Given the description of an element on the screen output the (x, y) to click on. 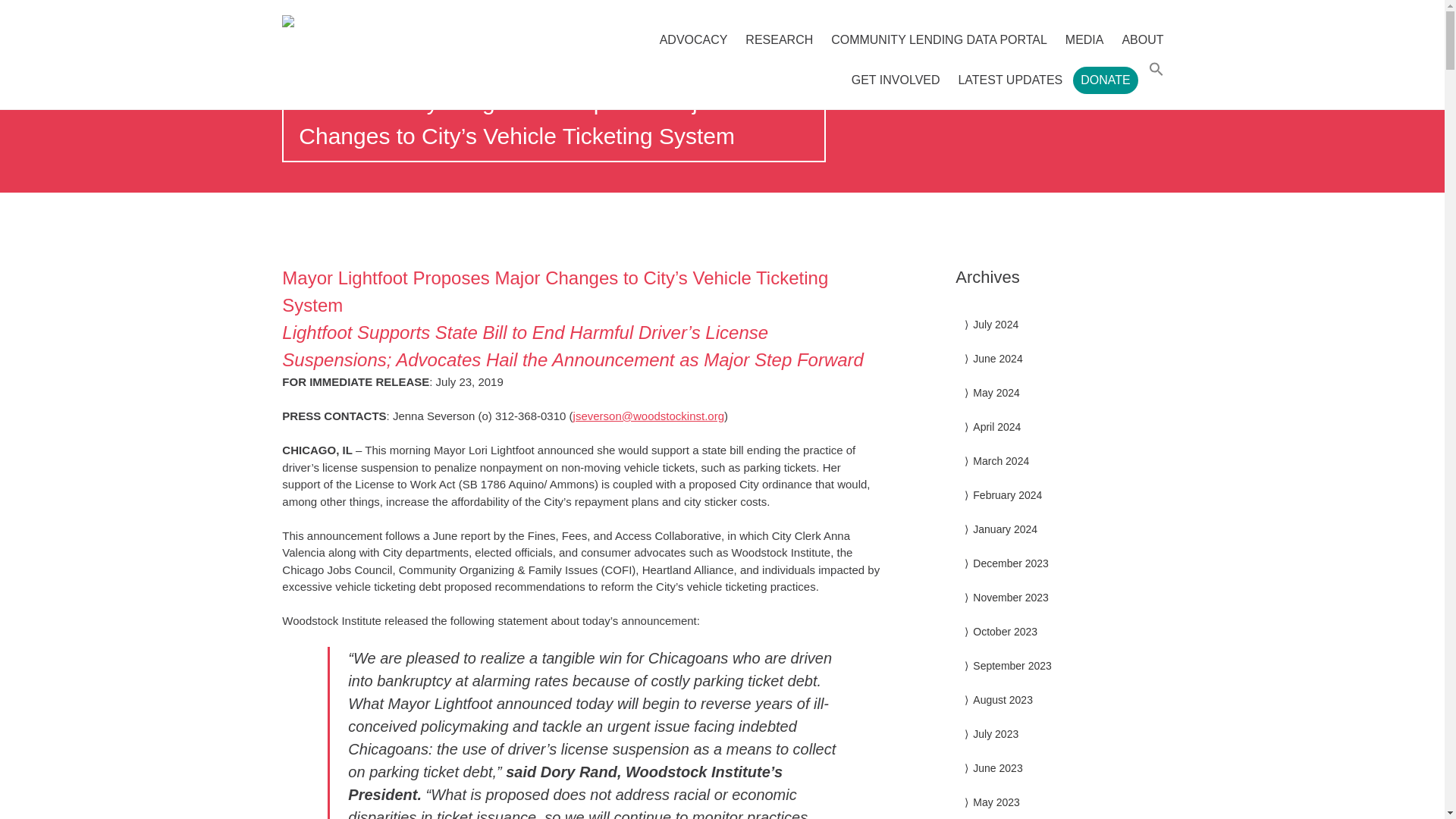
DONATE (1105, 80)
March 2024 (1000, 460)
COMMUNITY LENDING DATA PORTAL (939, 40)
April 2024 (996, 426)
LATEST UPDATES (1010, 80)
June 2024 (997, 358)
ADVOCACY (693, 40)
GET INVOLVED (895, 80)
Woodstock Institute -  (413, 21)
July 2024 (994, 324)
ABOUT (1141, 40)
MEDIA (1085, 40)
May 2024 (995, 392)
RESEARCH (779, 40)
